Given the description of an element on the screen output the (x, y) to click on. 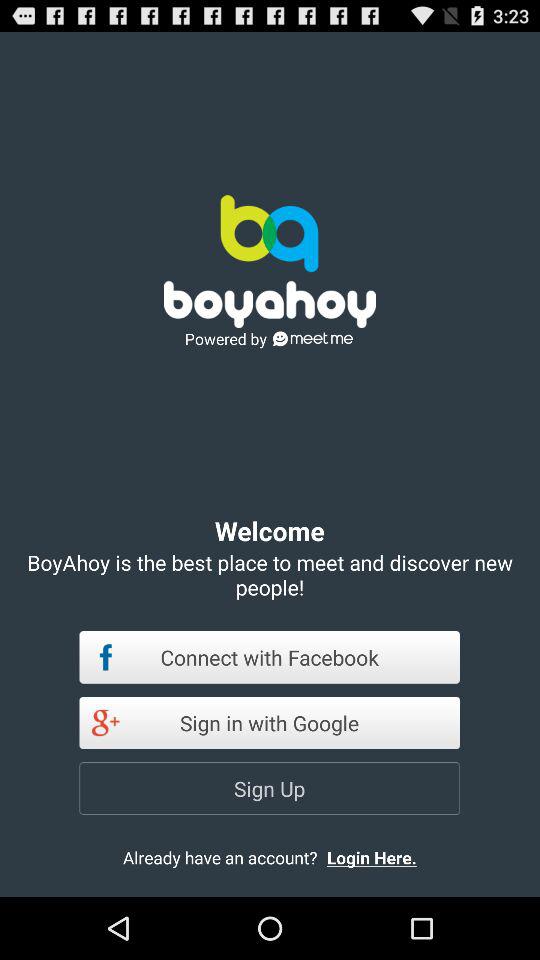
turn off app above the already have an app (269, 788)
